Given the description of an element on the screen output the (x, y) to click on. 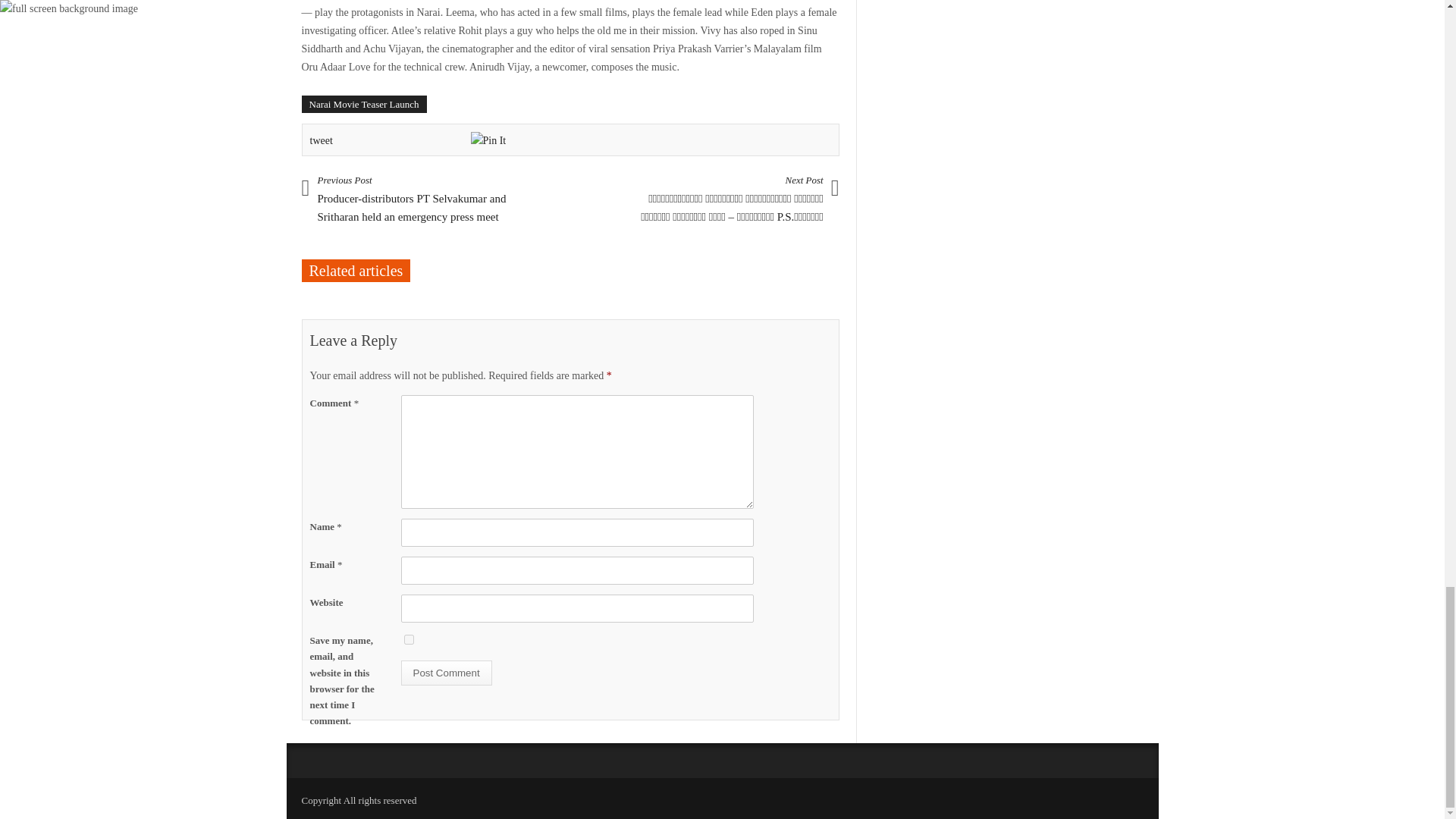
Post Comment (446, 672)
yes (408, 639)
Pin It (487, 140)
